Given the description of an element on the screen output the (x, y) to click on. 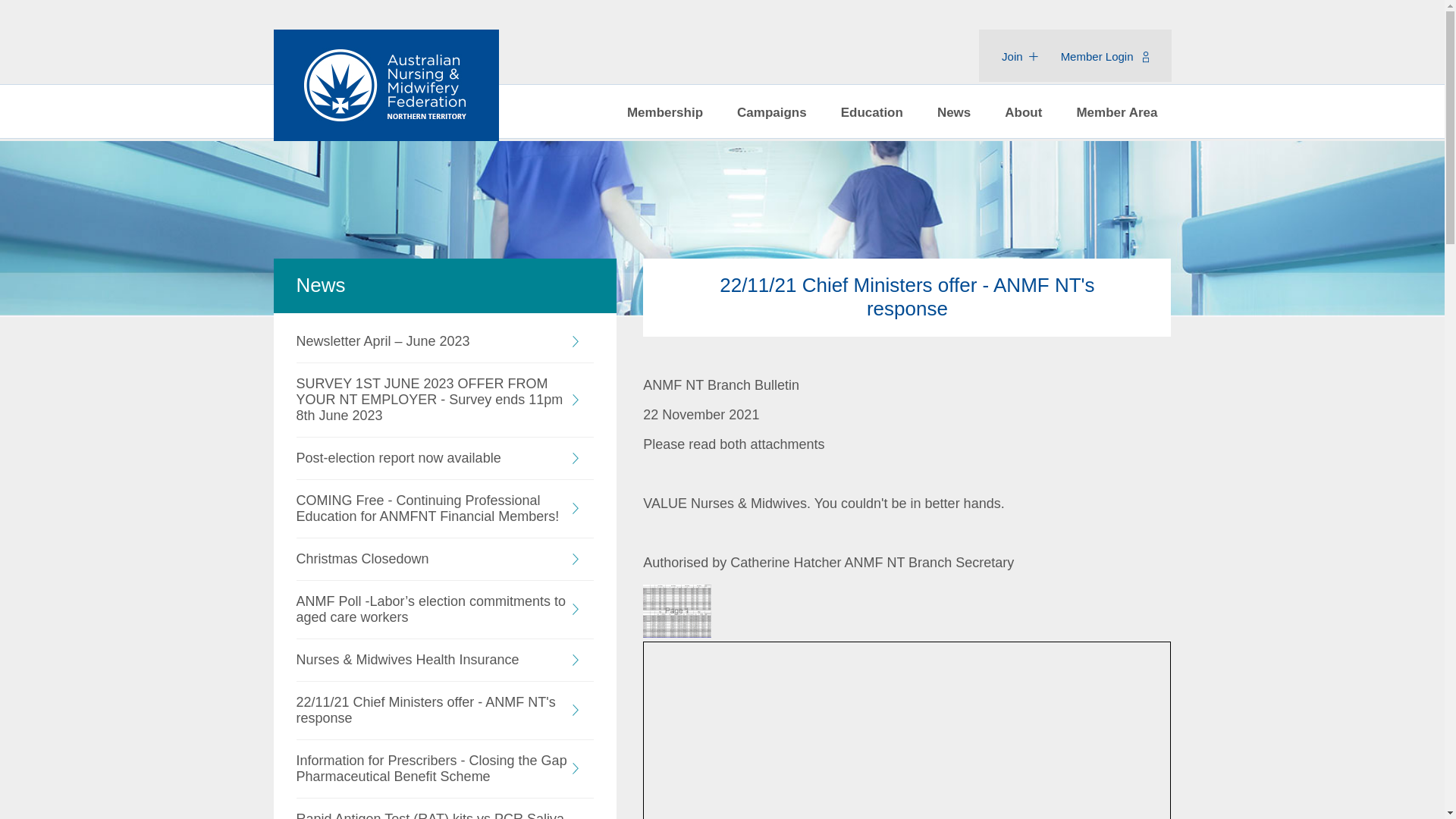
Membership Element type: text (664, 111)
Campaigns Element type: text (771, 111)
Post-election report now available Element type: text (444, 458)
About Element type: text (1022, 111)
Education Element type: text (871, 111)
22/11/21 Chief Ministers offer - ANMF NT's response Element type: text (444, 710)
Skip to main content Element type: text (61, 25)
Christmas Closedown Element type: text (444, 559)
News Element type: text (953, 111)
Member Login Element type: text (1104, 56)
Member Area Element type: text (1116, 111)
22/11/21 Chief Ministers offer - ANMF NT's response Element type: hover (677, 632)
Nurses & Midwives Health Insurance Element type: text (444, 659)
Join Element type: text (1019, 56)
